Given the description of an element on the screen output the (x, y) to click on. 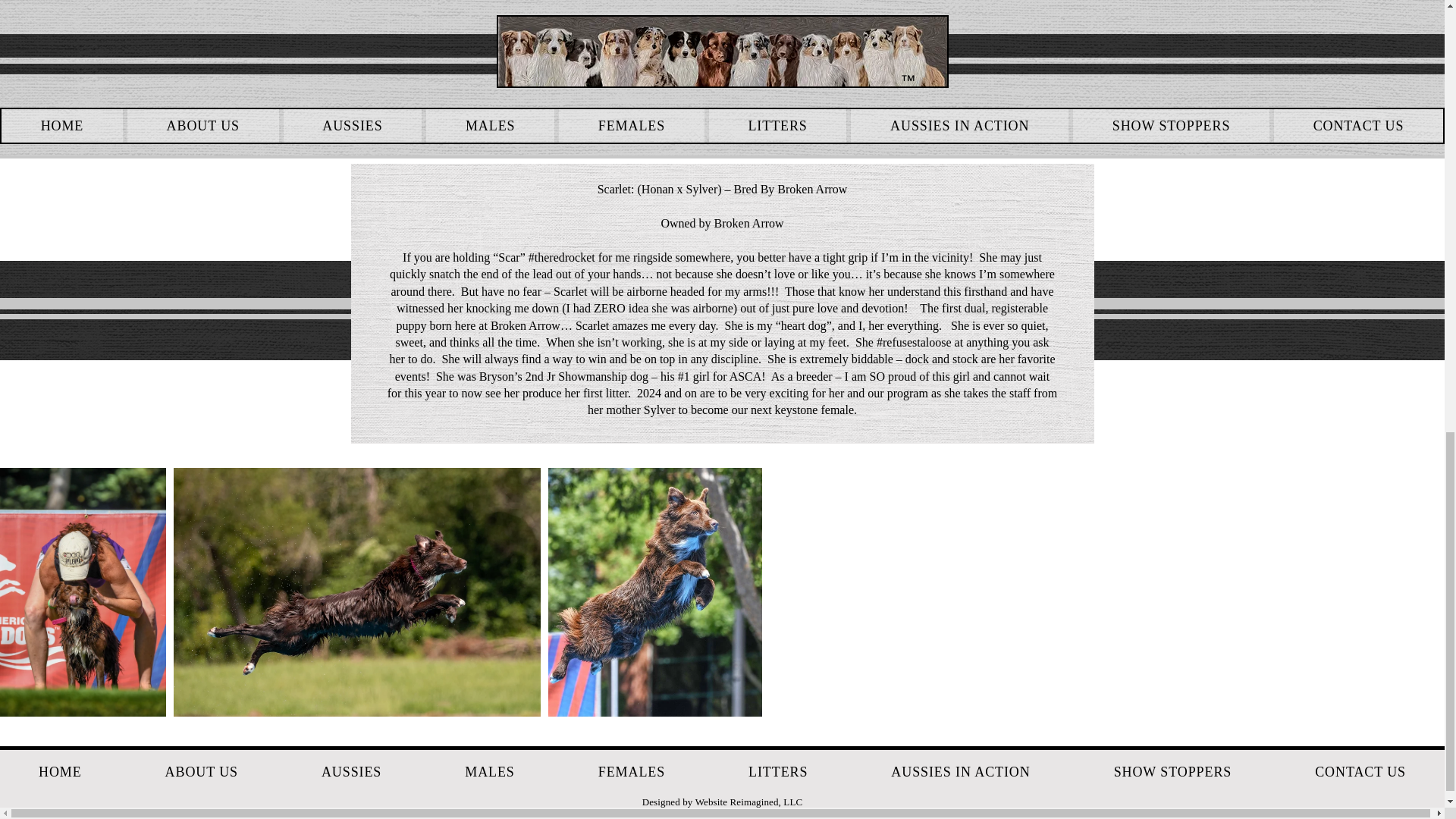
CLICK HERE (1021, 61)
CLICK HERE (747, 81)
CLICK HERE (752, 101)
CLICK HERE (752, 61)
